Given the description of an element on the screen output the (x, y) to click on. 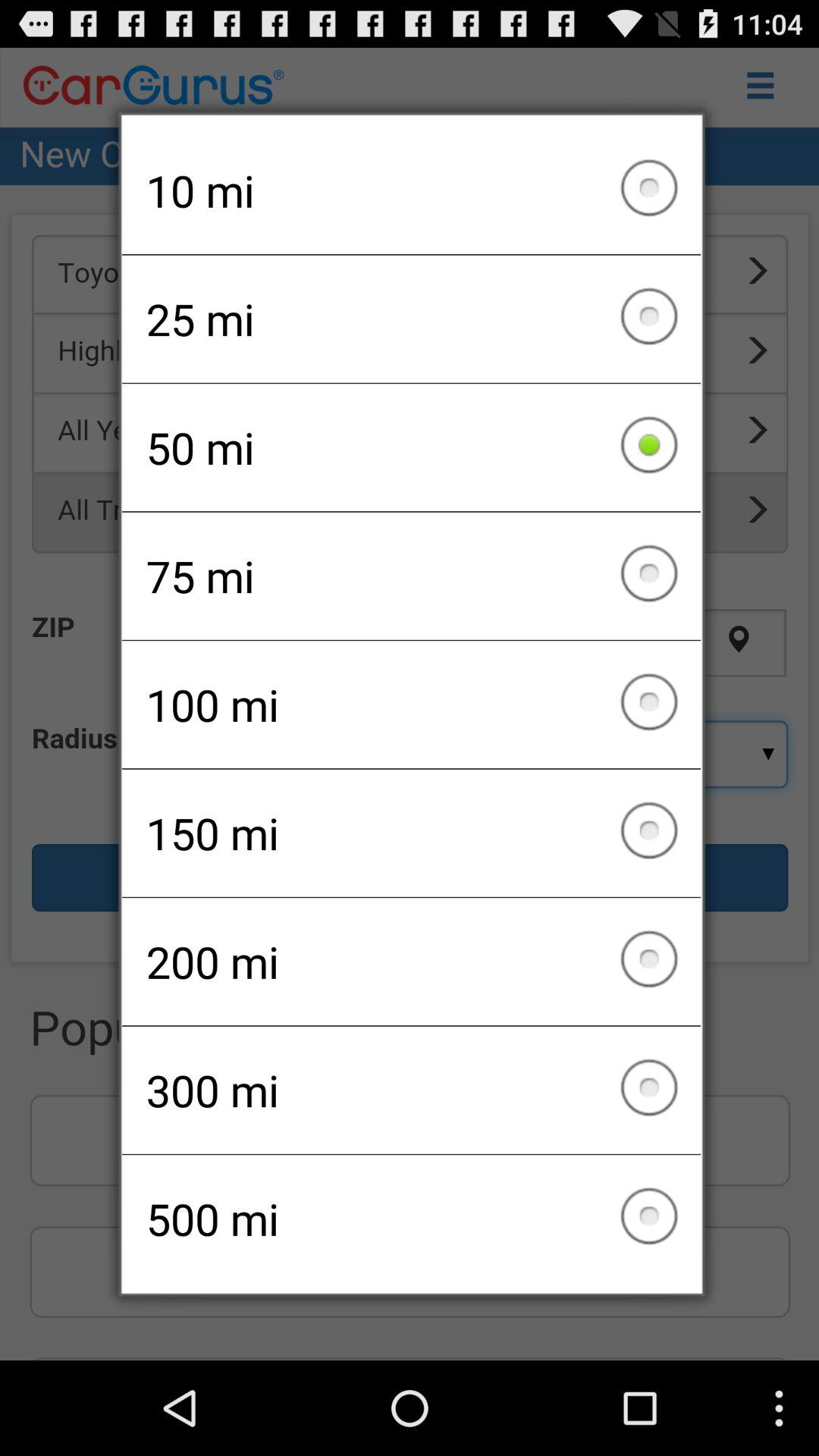
swipe until the 100 mi (411, 704)
